Given the description of an element on the screen output the (x, y) to click on. 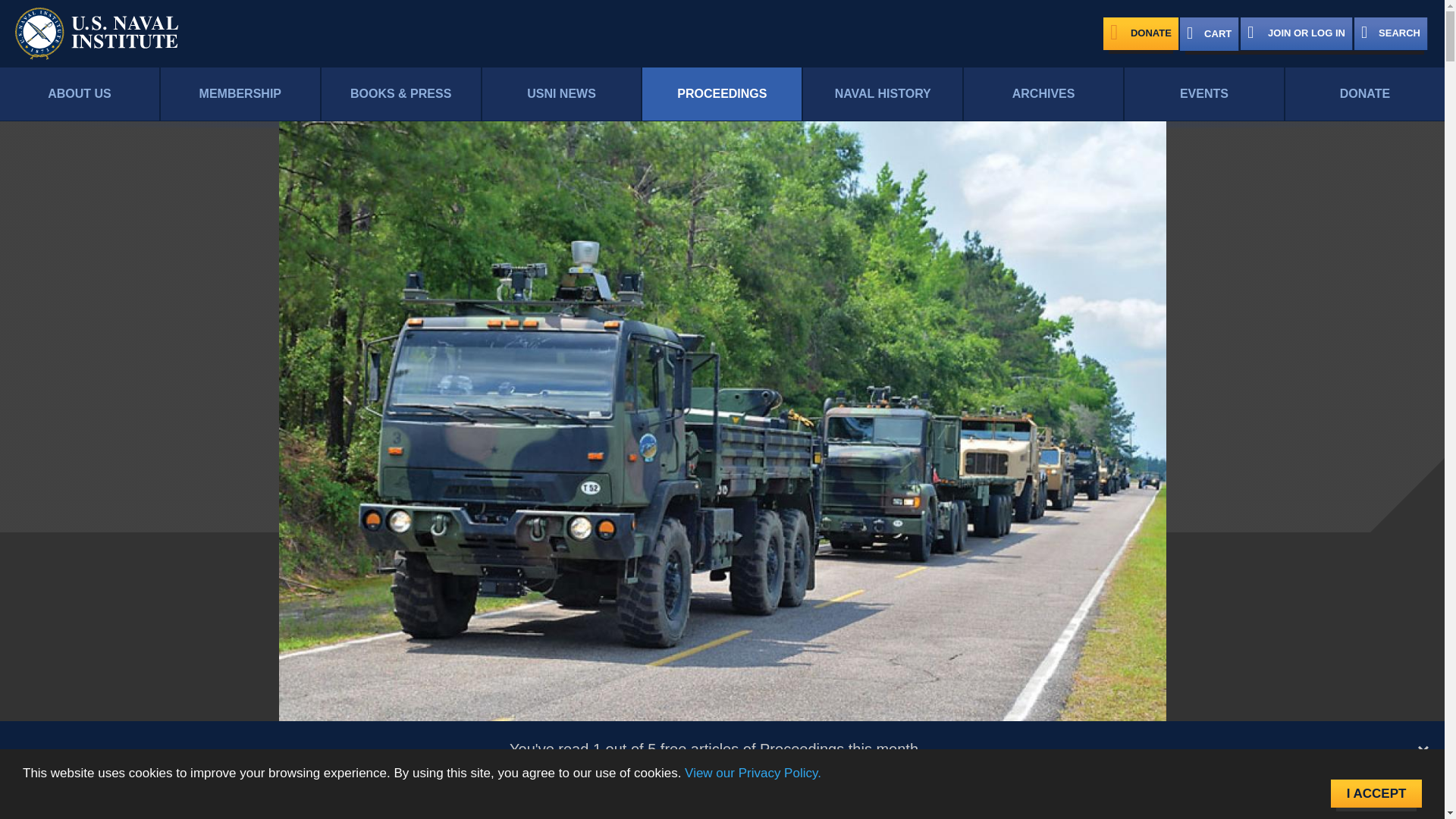
CART (1209, 33)
MEMBERSHIP (240, 94)
PROCEEDINGS (722, 94)
USNI NEWS (561, 94)
DONATE (1141, 33)
American Sea Power Project (795, 812)
NAVAL HISTORY (882, 94)
Current Issue of Proceedings (499, 812)
EVENTS (1204, 94)
SEARCH (1391, 33)
DONATE (1364, 94)
JOIN OR LOG IN (1296, 33)
ARCHIVES (1042, 94)
ABOUT US (79, 94)
